Given the description of an element on the screen output the (x, y) to click on. 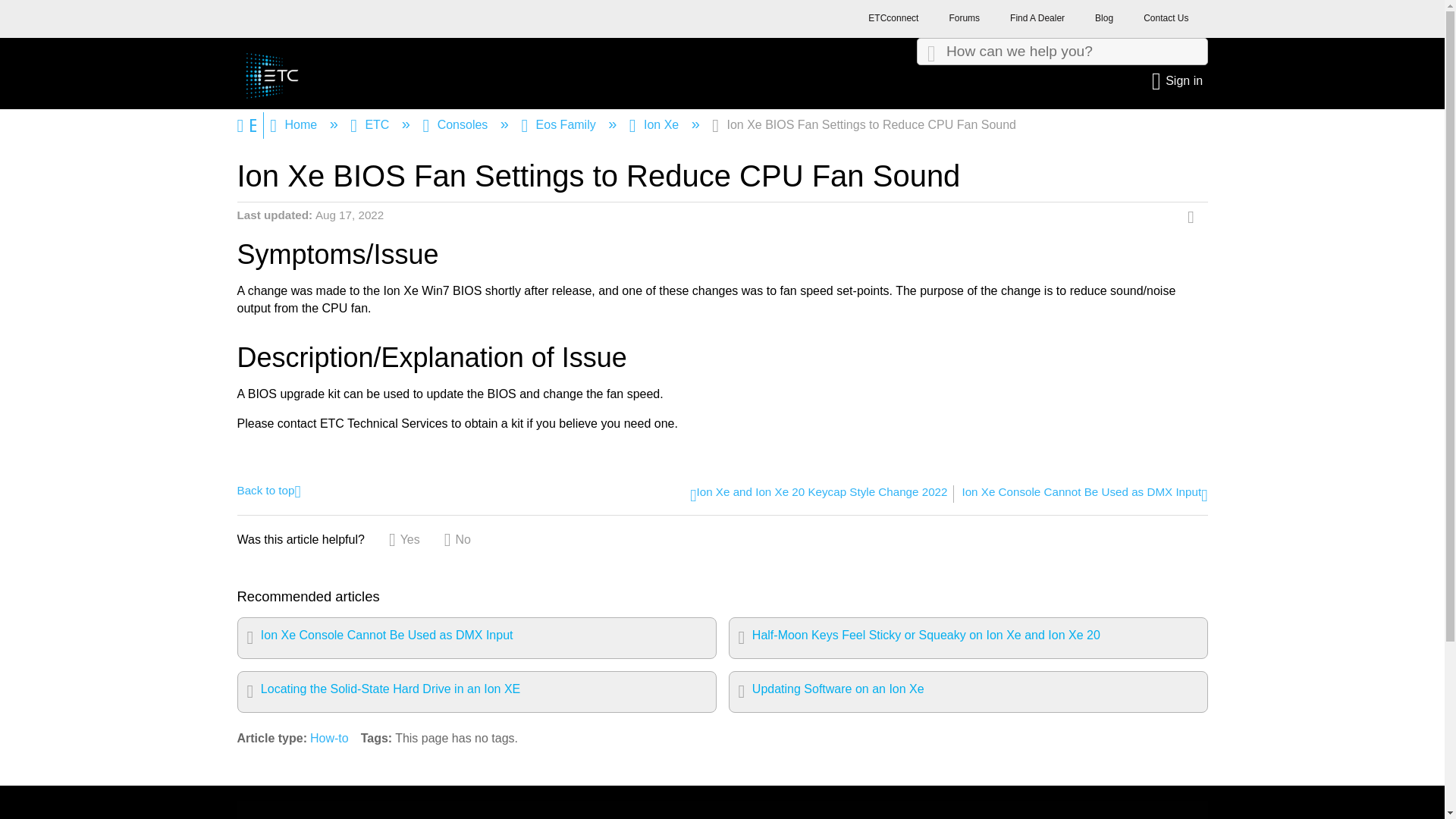
CAREERS (543, 809)
Forums (963, 21)
Ion Xe Console Cannot Be Used as DMX Input (1083, 495)
LEGACY PRODUCTS (730, 809)
Updating Software on an Ion Xe (968, 691)
Find A Dealer (1037, 21)
CONTACT US (624, 809)
Blog (1104, 21)
Ion Xe (655, 124)
